Given the description of an element on the screen output the (x, y) to click on. 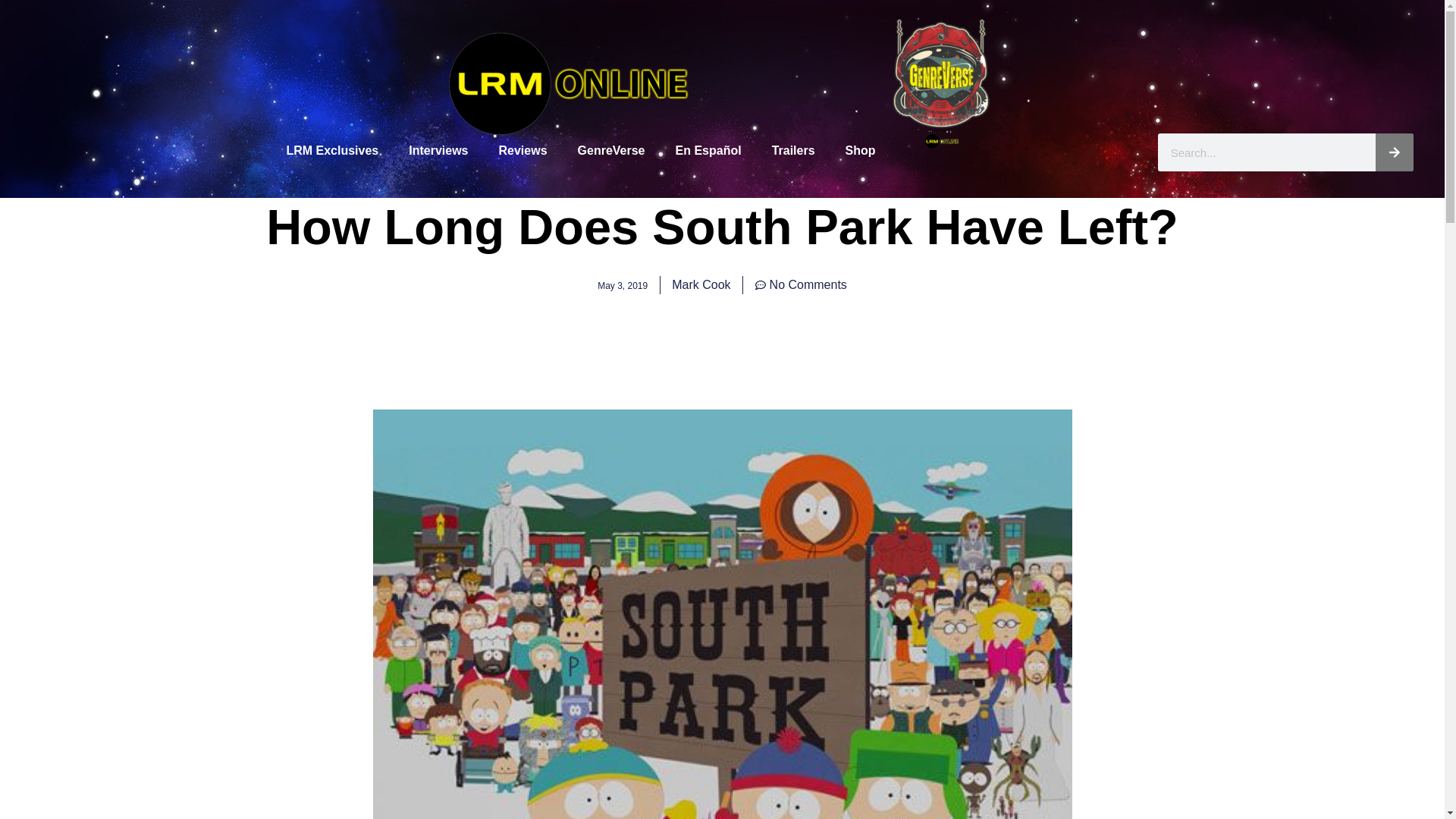
Trailers (793, 150)
May 3, 2019 (621, 285)
Mark Cook (700, 285)
No Comments (801, 285)
Reviews (522, 150)
Shop (860, 150)
Interviews (438, 150)
GenreVerse (611, 150)
LRM Exclusives (331, 150)
